Given the description of an element on the screen output the (x, y) to click on. 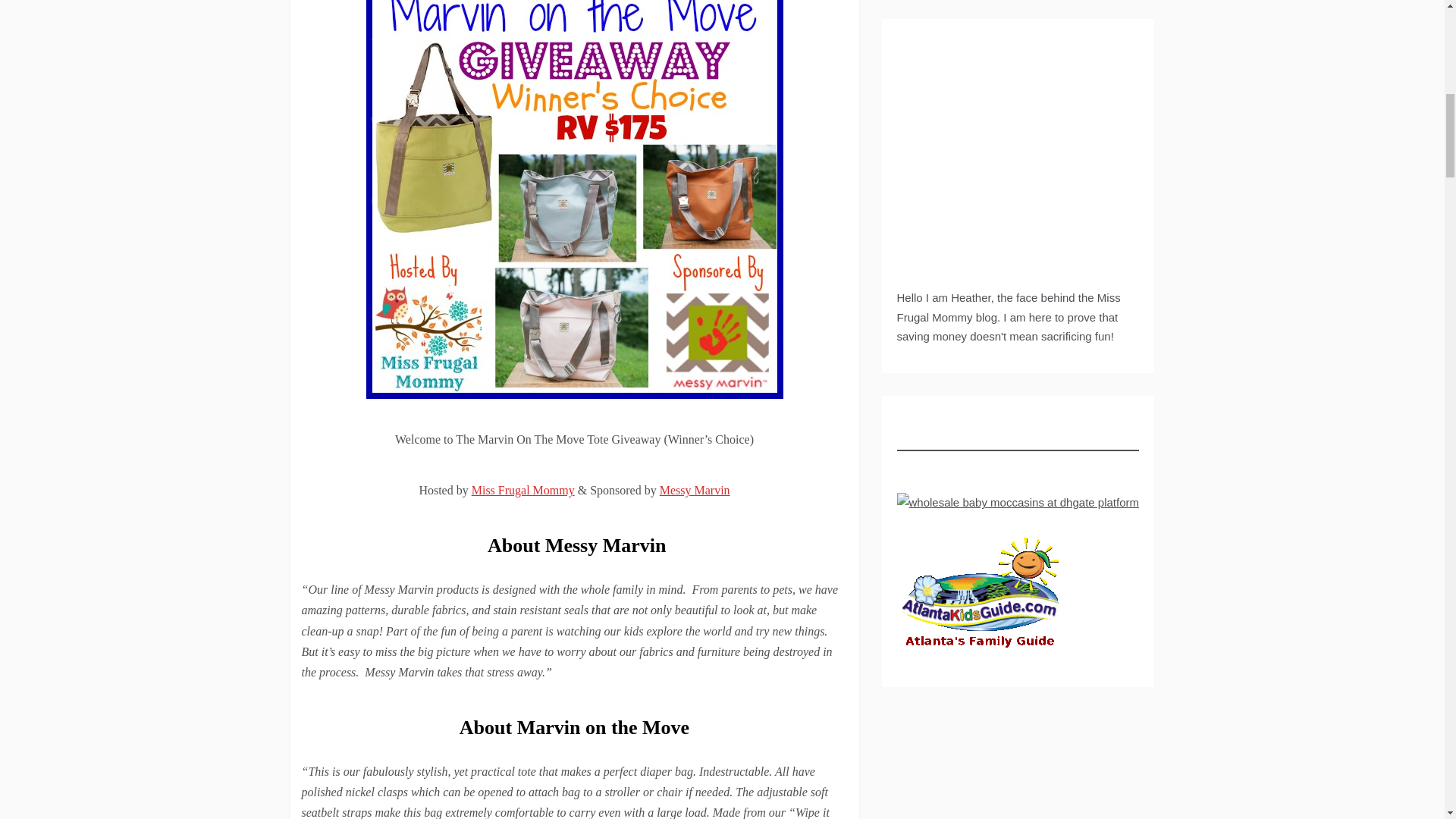
Miss Frugal Mommy (523, 490)
Messy Marvin (694, 490)
